Given the description of an element on the screen output the (x, y) to click on. 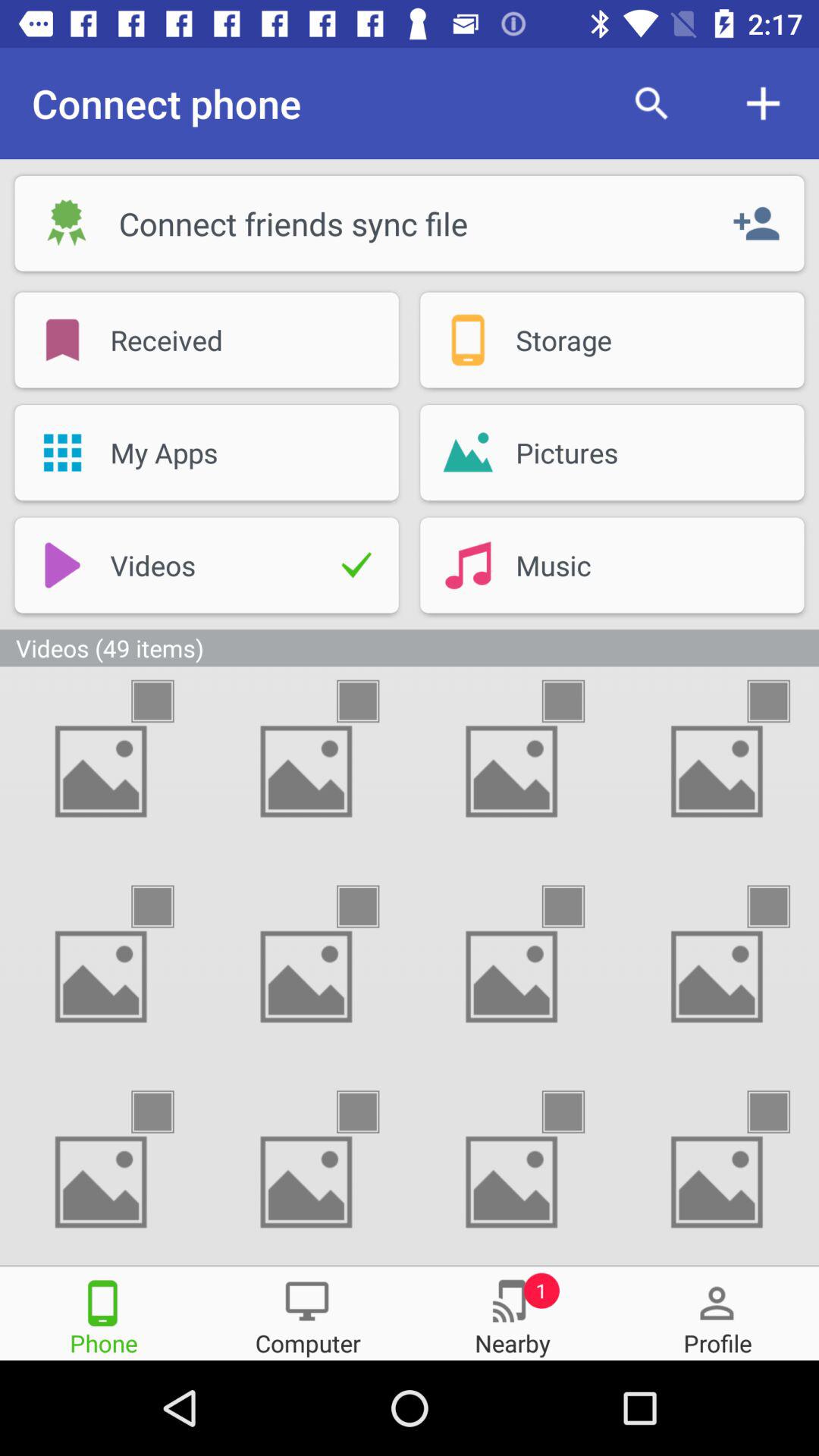
delete this video (166, 700)
